Given the description of an element on the screen output the (x, y) to click on. 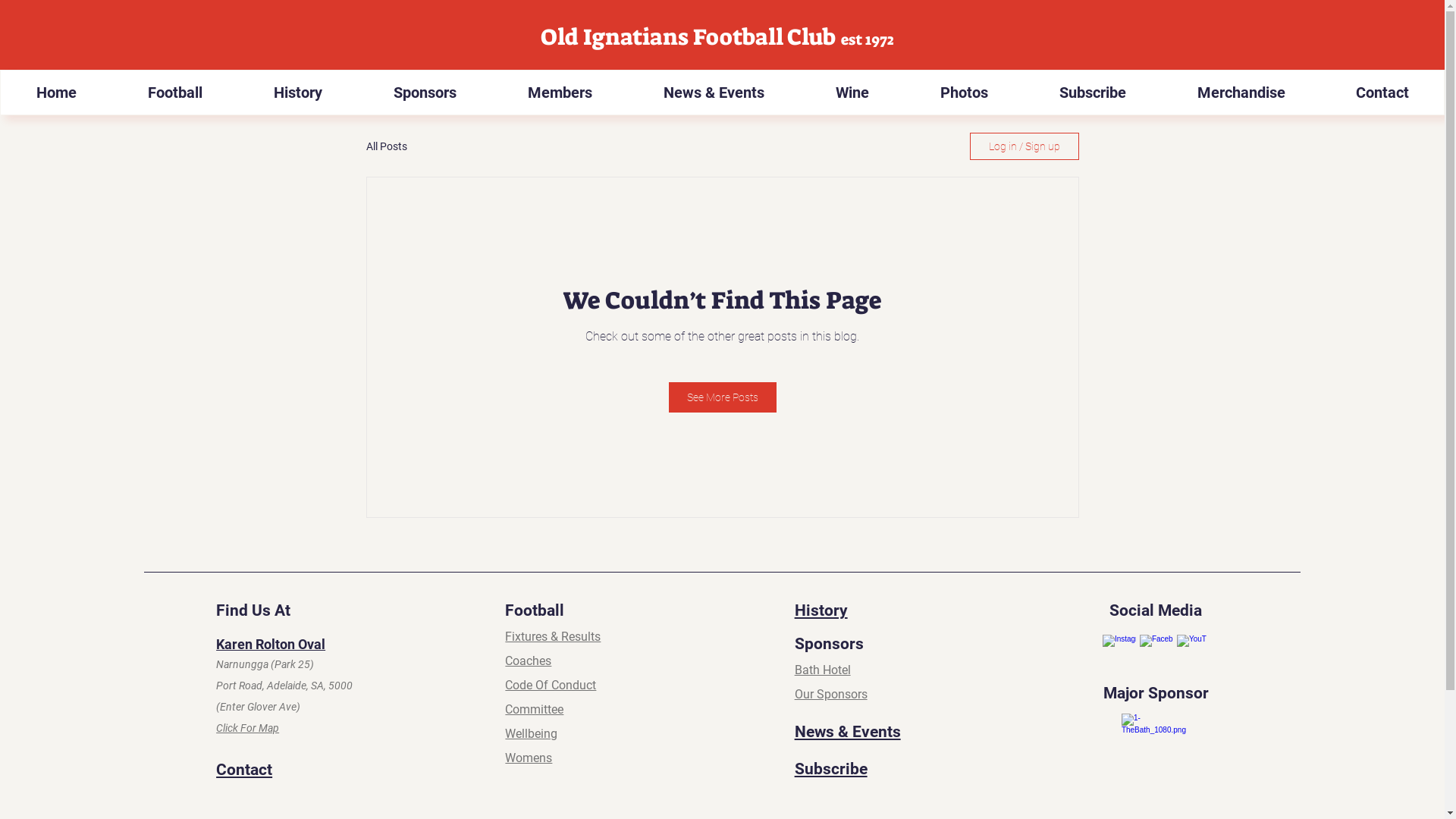
Subscribe Element type: text (830, 768)
Home Element type: text (55, 92)
Bath Hotel Element type: text (822, 669)
Log in / Sign up Element type: text (1023, 146)
News & Events Element type: text (713, 92)
Coaches Element type: text (528, 660)
Wine Element type: text (851, 92)
Click For Map Element type: text (247, 727)
History Element type: text (297, 92)
Code Of Conduct Element type: text (550, 684)
Merchandise Element type: text (1240, 92)
Committee Element type: text (534, 709)
Our Sponsors Element type: text (830, 694)
Contact Element type: text (1381, 92)
Photos Element type: text (962, 92)
Subscribe Element type: text (1091, 92)
Wellbeing Element type: text (531, 733)
See More Posts Element type: text (722, 397)
Womens Element type: text (528, 757)
History Element type: text (820, 610)
All Posts Element type: text (385, 146)
Fixtures & Results Element type: text (552, 636)
Contact Element type: text (244, 769)
News & Events Element type: text (847, 731)
